Given the description of an element on the screen output the (x, y) to click on. 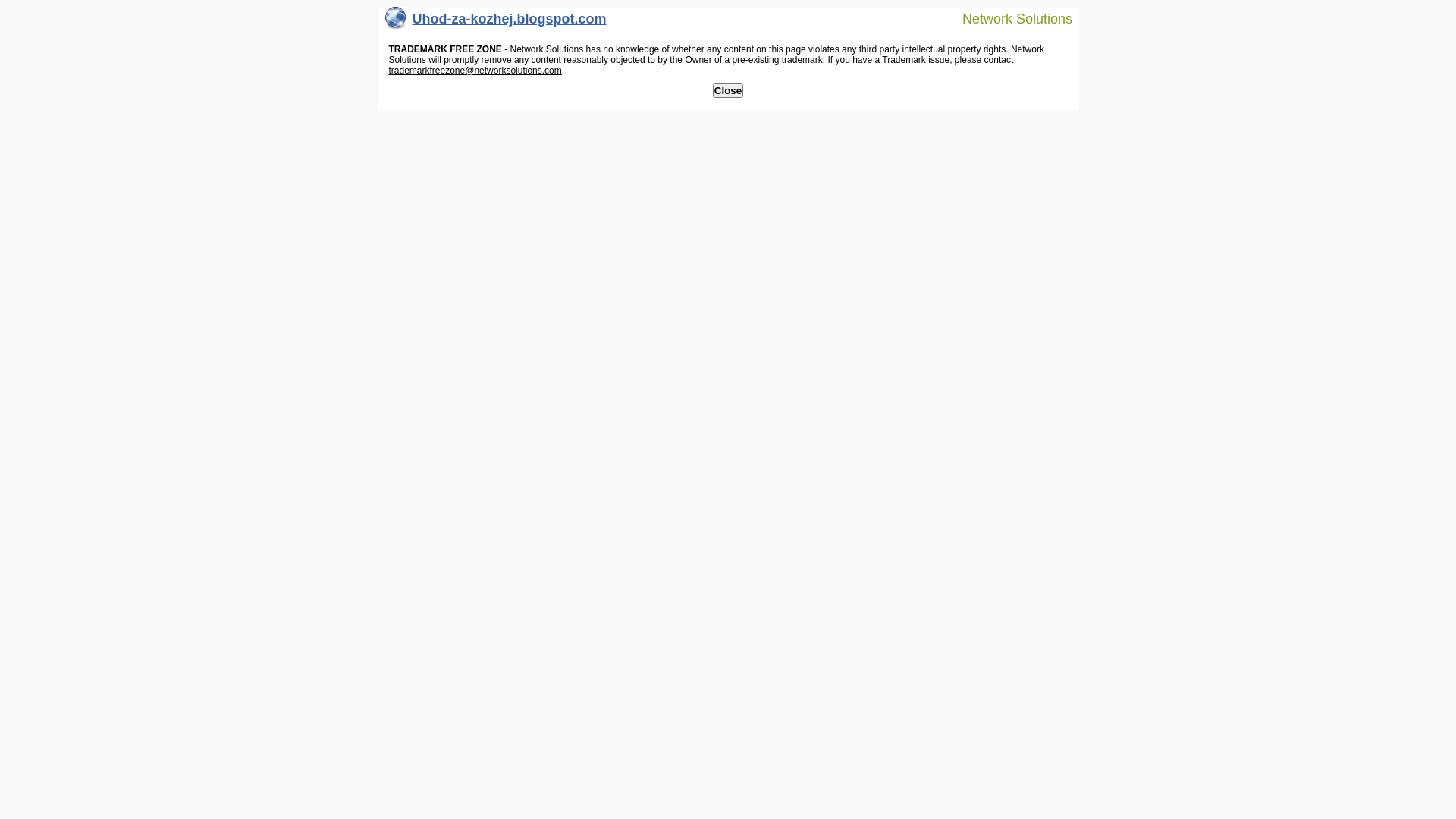
trademarkfreezone@networksolutions.com Element type: text (474, 70)
Close Element type: text (727, 90)
Network Solutions Element type: text (1007, 17)
Uhod-za-kozhej.blogspot.com Element type: text (495, 21)
